Given the description of an element on the screen output the (x, y) to click on. 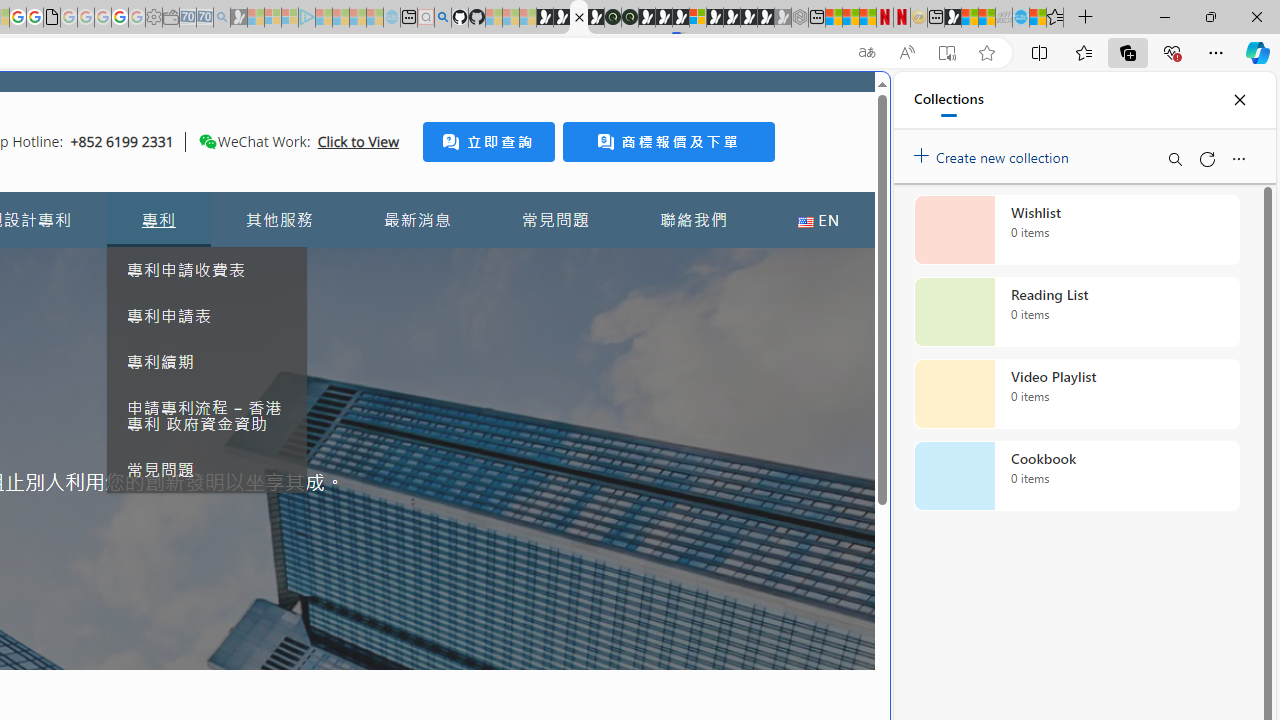
Tabs you've opened (276, 265)
Video Playlist collection, 0 items (1076, 394)
Reading List collection, 0 items (1076, 312)
github - Search (442, 17)
